Given the description of an element on the screen output the (x, y) to click on. 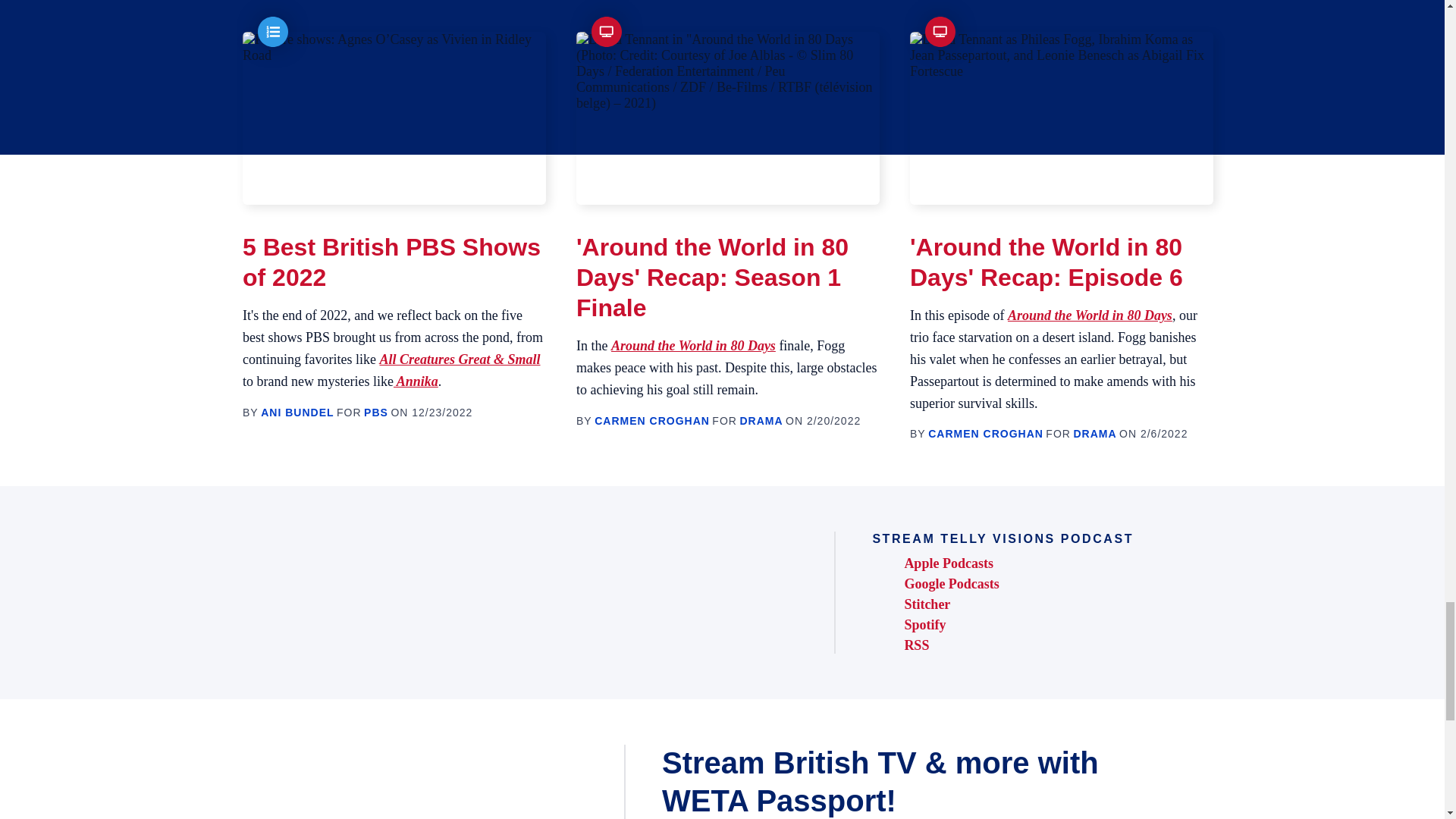
5 Best British PBS Shows of 2022 (391, 262)
Annika (415, 381)
rss (1003, 645)
ANI BUNDEL (296, 412)
